Given the description of an element on the screen output the (x, y) to click on. 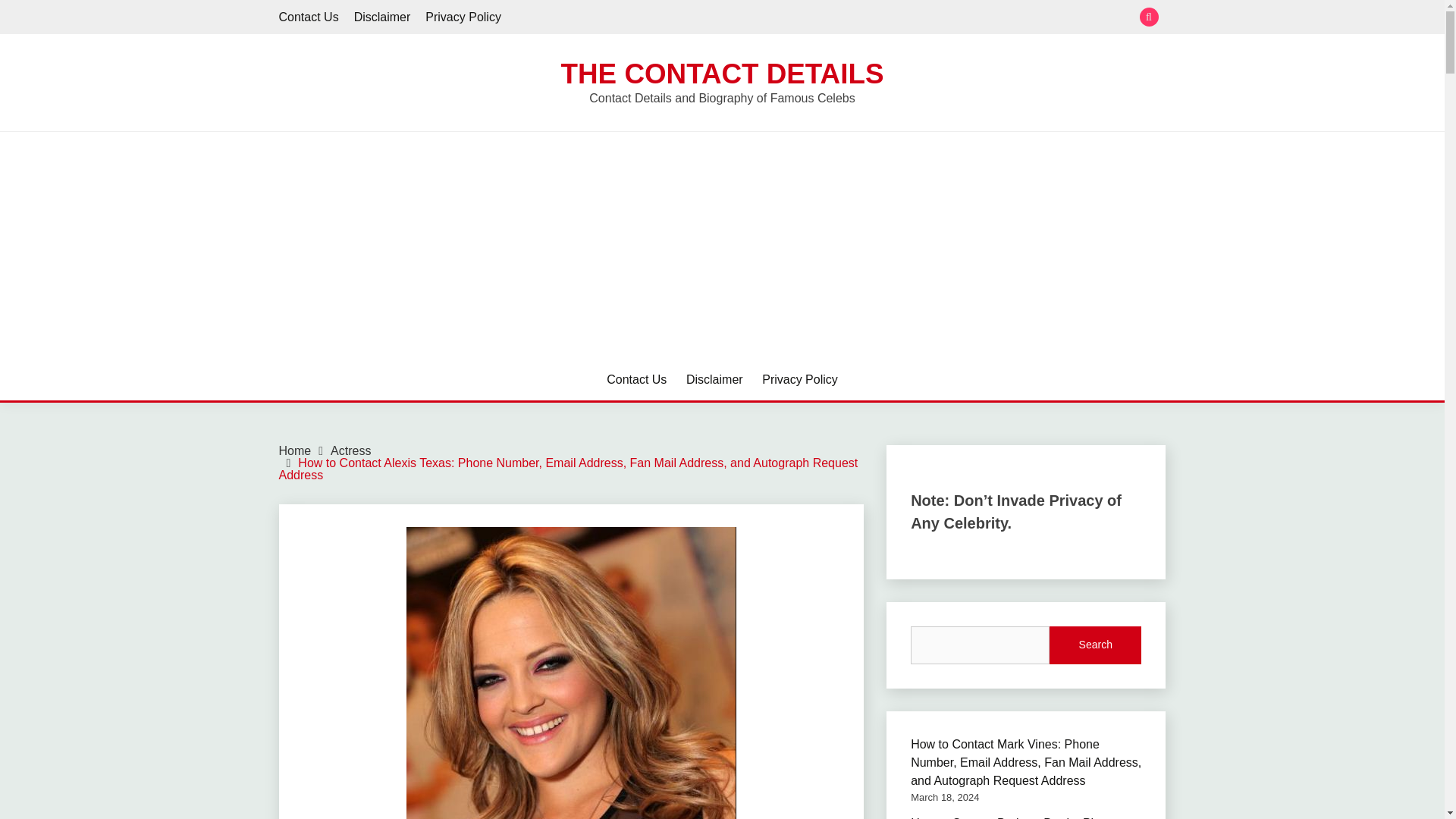
Privacy Policy (462, 16)
Disclaimer (381, 16)
Disclaimer (713, 380)
Contact Us (309, 16)
Search (832, 18)
THE CONTACT DETAILS (721, 73)
Contact Us (636, 380)
Home (295, 450)
Actress (350, 450)
Search (1095, 645)
Privacy Policy (799, 380)
